Given the description of an element on the screen output the (x, y) to click on. 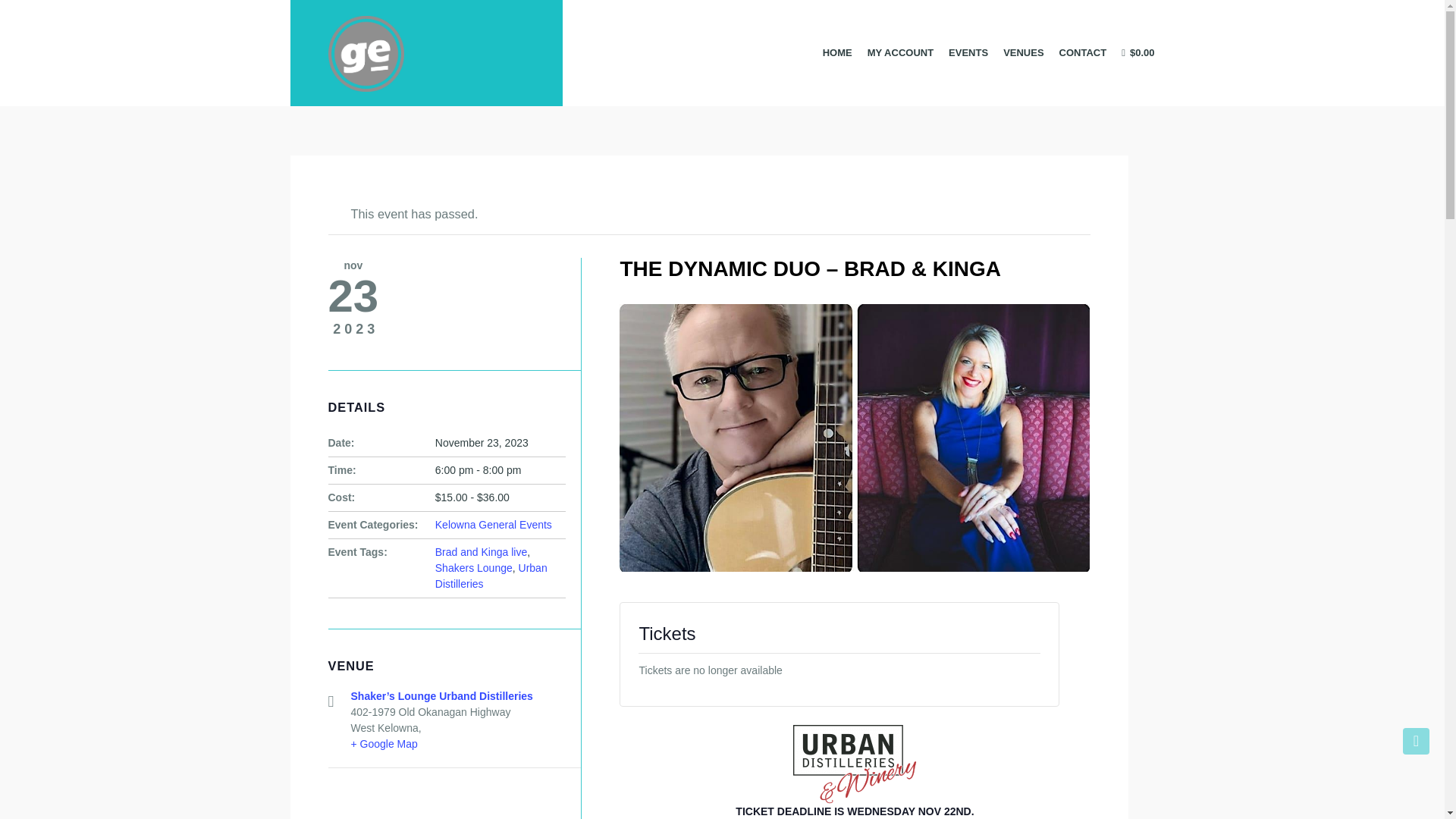
VENUES (1023, 52)
2023-11-23 (481, 442)
Click to view a Google Map (383, 743)
HOME (837, 52)
Urban Distilleries (491, 575)
CONTACT (1083, 52)
Brad and Kinga live (481, 551)
MY ACCOUNT (900, 52)
Shakers Lounge (473, 567)
EVENTS (967, 52)
2023-11-23 (478, 469)
Kelowna General Events (493, 524)
